Given the description of an element on the screen output the (x, y) to click on. 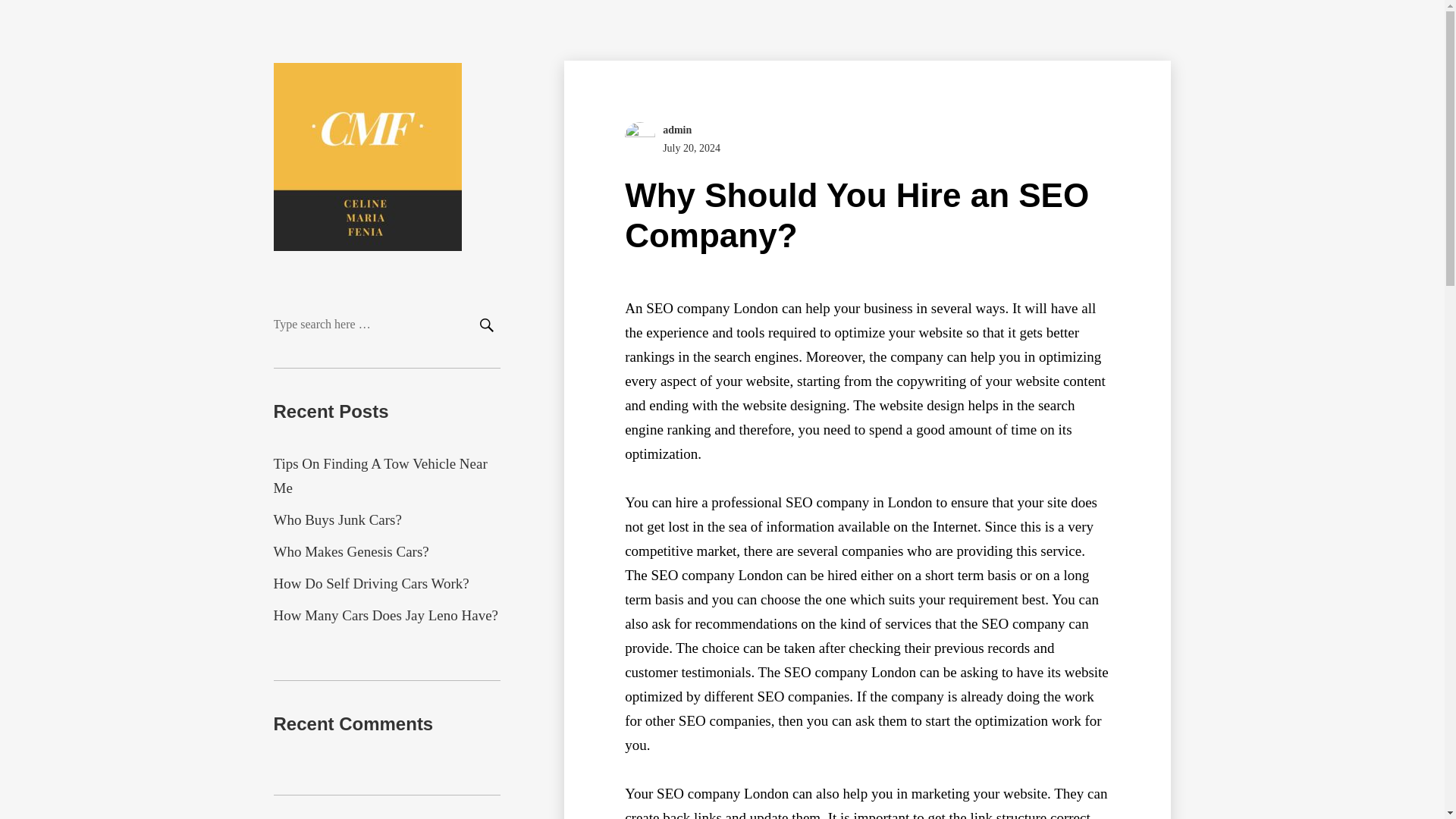
Who Buys Junk Cars? (337, 519)
How Many Cars Does Jay Leno Have? (385, 615)
Tips On Finding A Tow Vehicle Near Me (379, 475)
admin (676, 129)
How Do Self Driving Cars Work? (370, 583)
July 20, 2024 (691, 147)
Search (485, 326)
Who Makes Genesis Cars? (350, 551)
Celine. Maria. Fenina (380, 291)
